Given the description of an element on the screen output the (x, y) to click on. 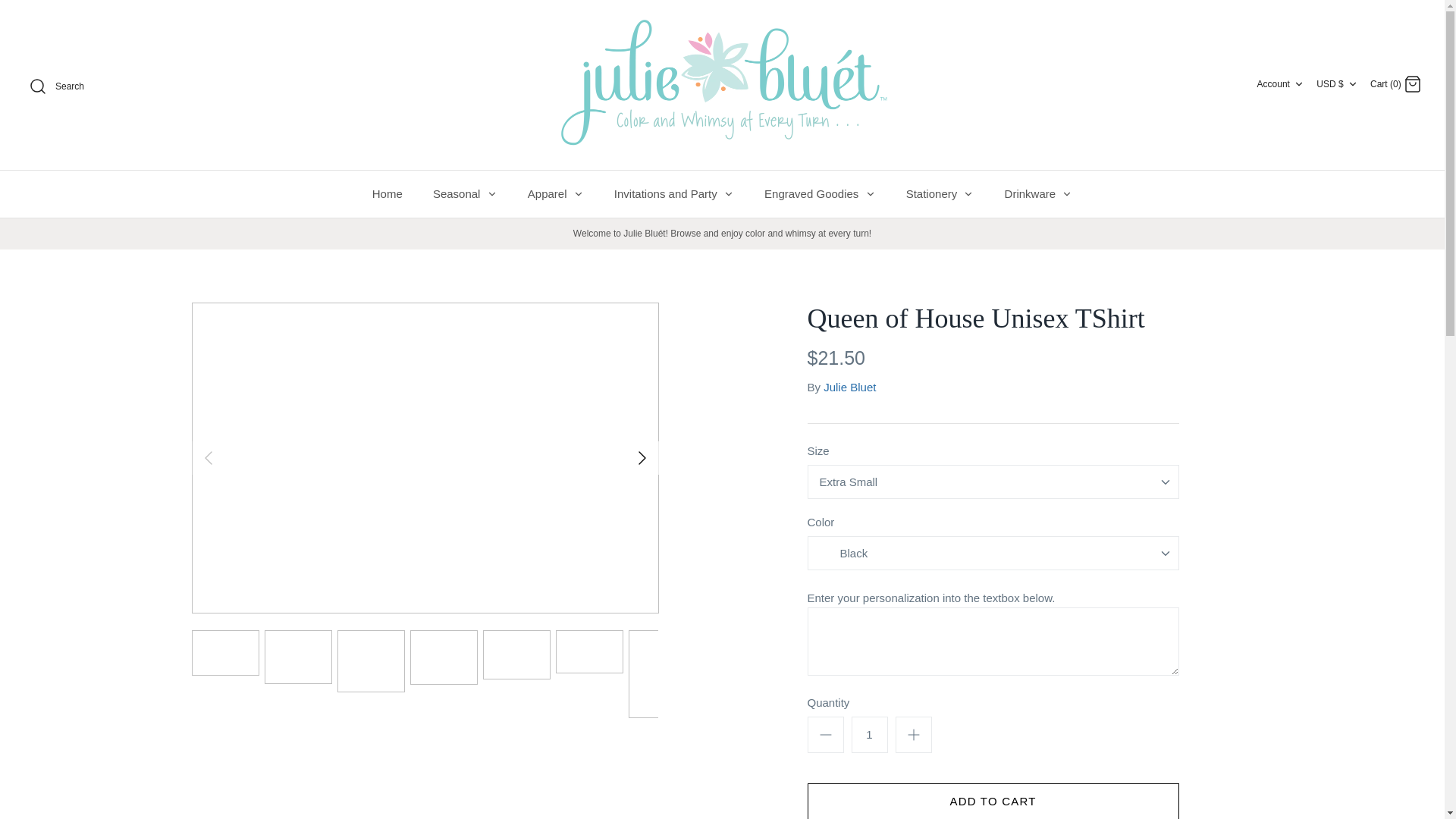
Down (1353, 83)
Black (852, 553)
Apparel Toggle menu (554, 193)
RIGHT (640, 457)
LEFT (207, 457)
Invitations and Party Toggle menu (673, 193)
1 (868, 734)
Toggle menu (578, 194)
Minus (824, 734)
Toggle menu (968, 194)
Toggle menu (870, 194)
Toggle menu (1066, 194)
Toggle menu (728, 194)
Cart (1412, 84)
Home (387, 193)
